Given the description of an element on the screen output the (x, y) to click on. 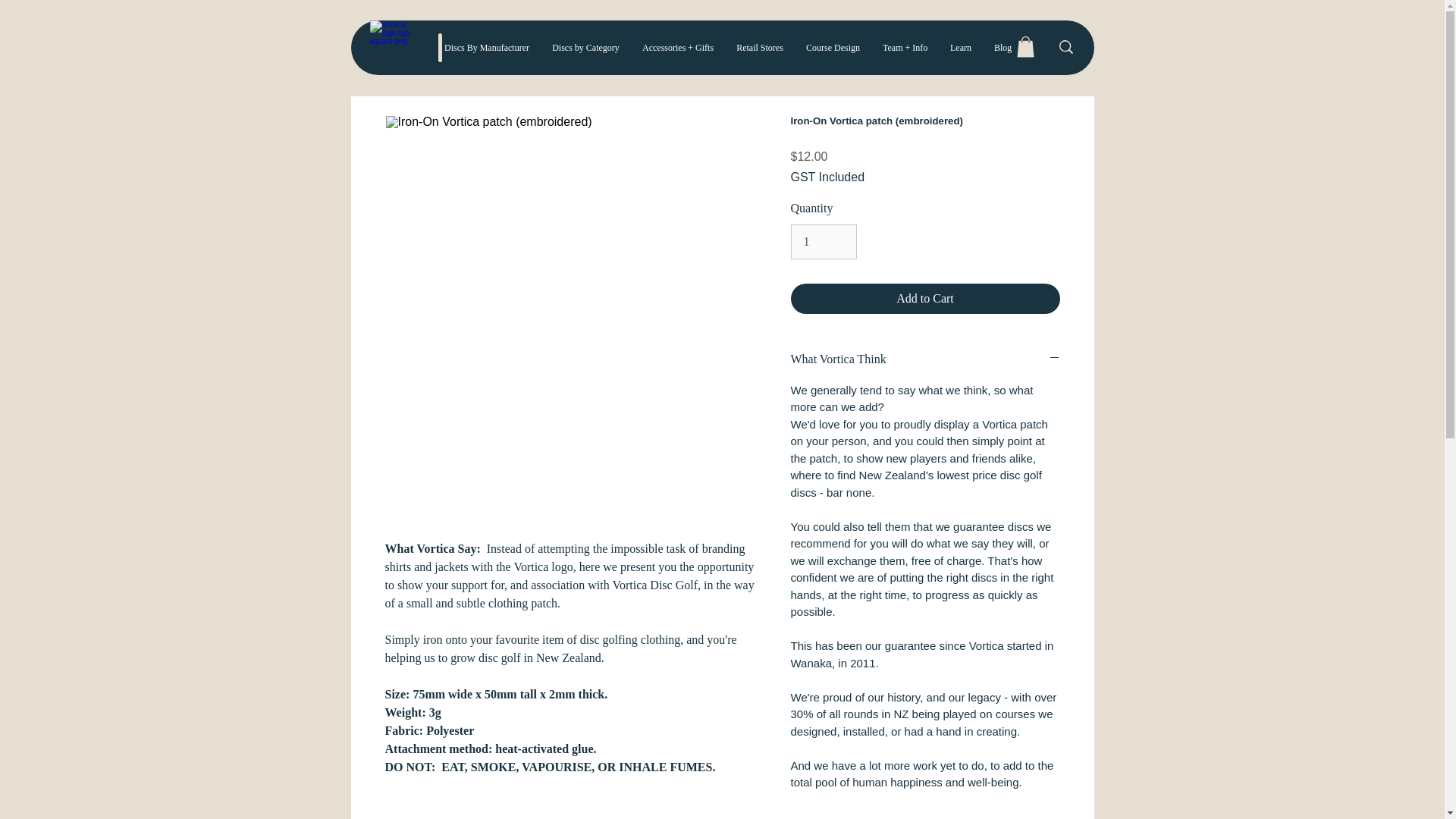
Course Design (832, 47)
Retail Stores (759, 47)
1 (823, 241)
Discs By Manufacturer (486, 47)
